Given the description of an element on the screen output the (x, y) to click on. 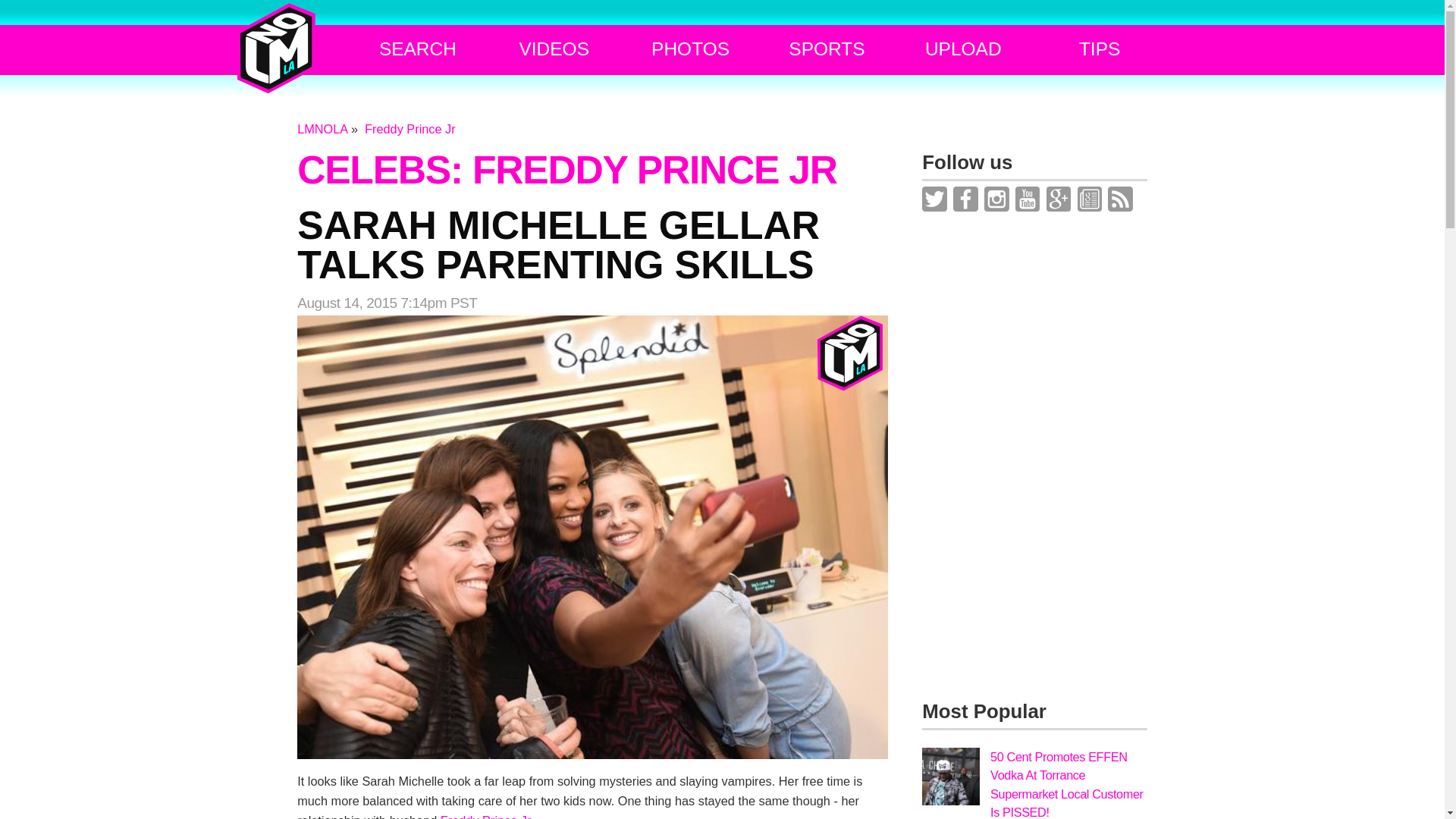
Freddy Prince Jr (486, 816)
LMNO.LA (275, 48)
VIDEOS (553, 49)
SPORTS (826, 49)
Freddy Prince Jr (410, 128)
PHOTOS (689, 49)
Freddy Prince Jr (410, 128)
LMNOLA (322, 128)
LMNOLA (322, 128)
TIPS (1099, 49)
SARAH MICHELLE GELLAR TALKS PARENTING SKILLS (593, 245)
UPLOAD (963, 49)
Freddy Prince Jr (486, 816)
